Given the description of an element on the screen output the (x, y) to click on. 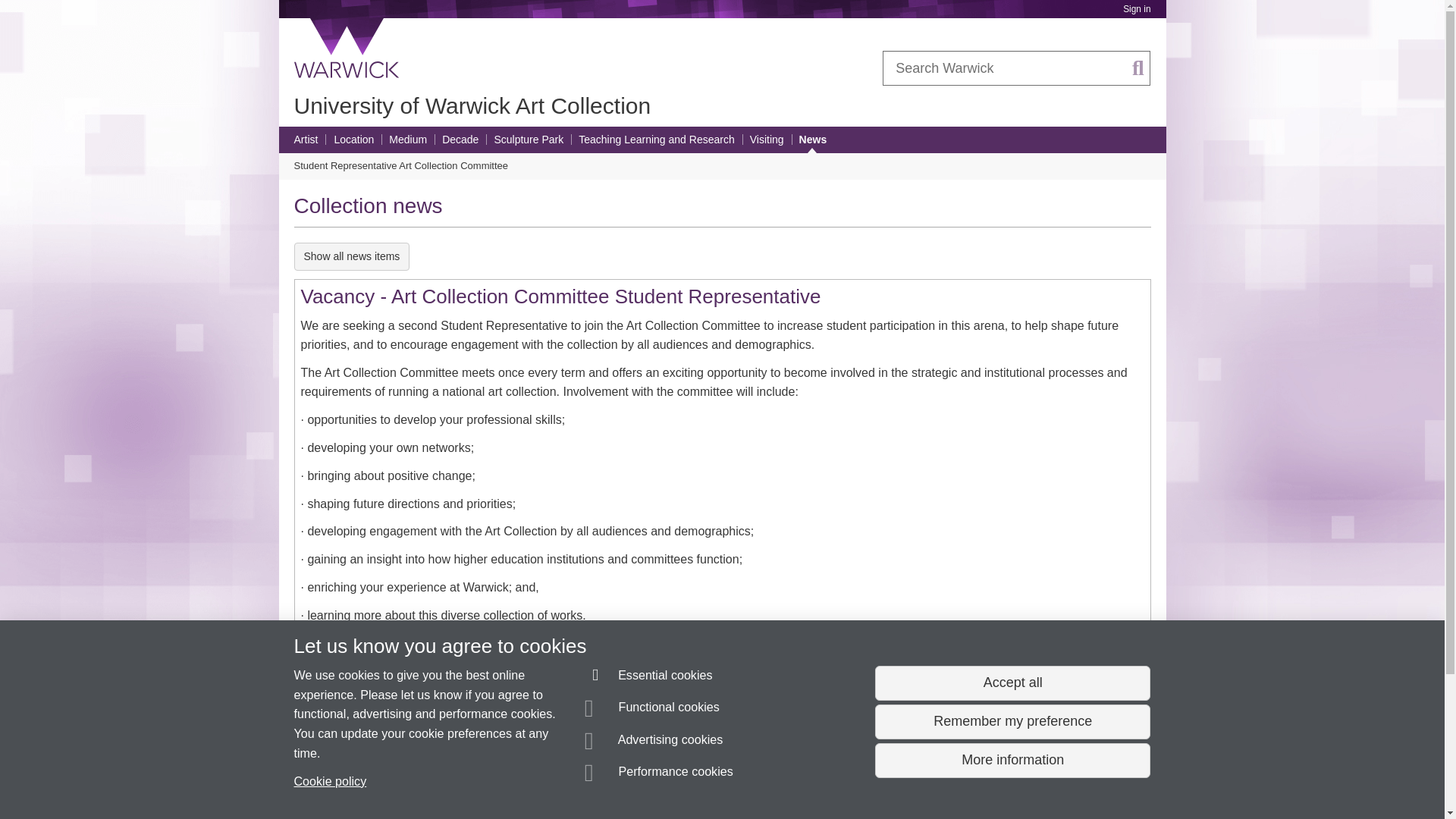
Artist (306, 139)
Search (1138, 68)
Visiting (766, 139)
Sculpture Park (528, 139)
Essential cookies are always on (649, 677)
Sign in (1136, 9)
Accept all functional, advertising and performance cookies (1012, 683)
Link opens in a new window (551, 644)
University of Warwick Art Collection (472, 105)
Medium (407, 139)
University of Warwick homepage (346, 48)
Decade (460, 139)
